Given the description of an element on the screen output the (x, y) to click on. 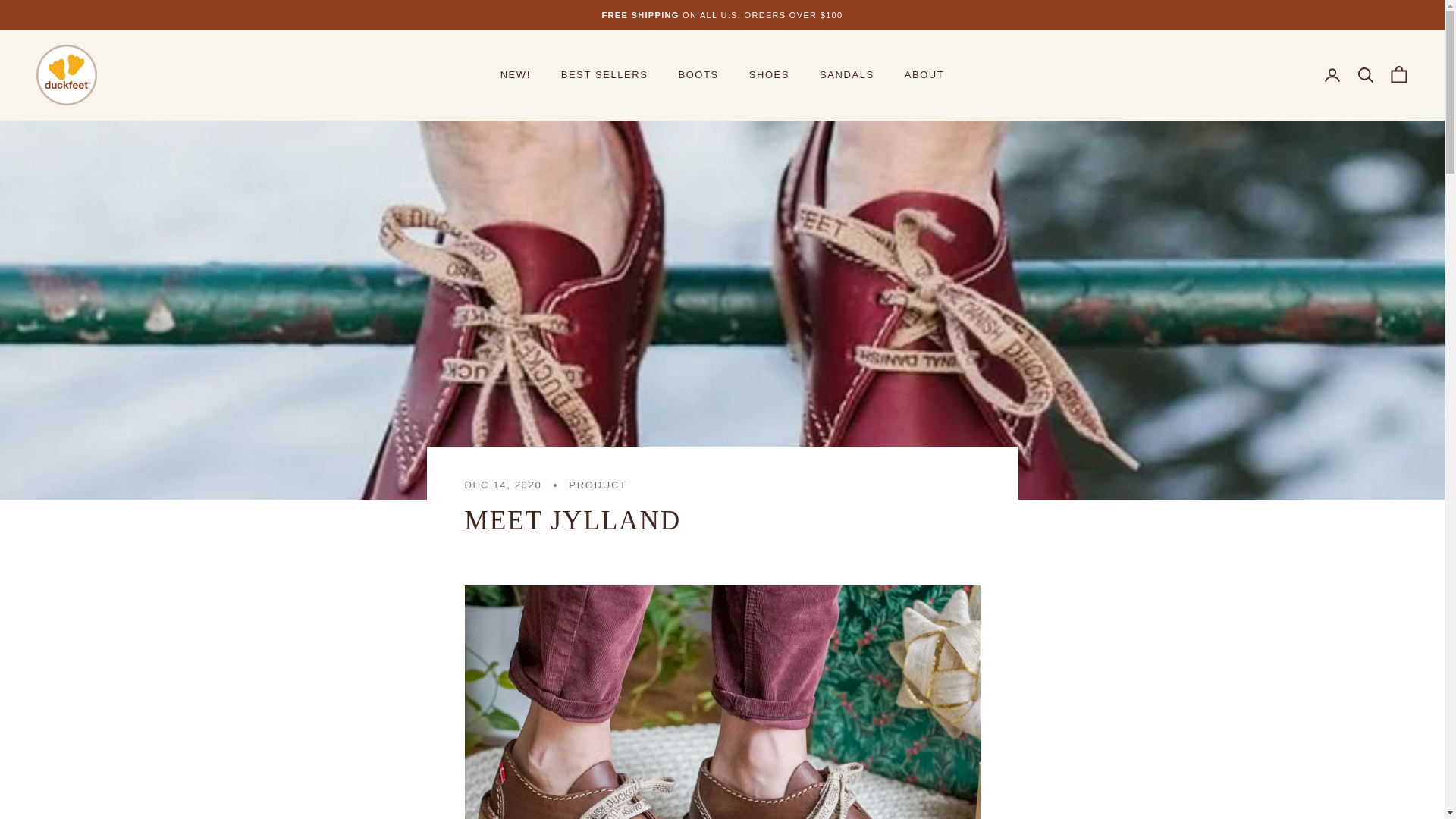
Duckfeet USA (66, 75)
BEST SELLERS (603, 74)
Jylland Cocoa (721, 702)
